Given the description of an element on the screen output the (x, y) to click on. 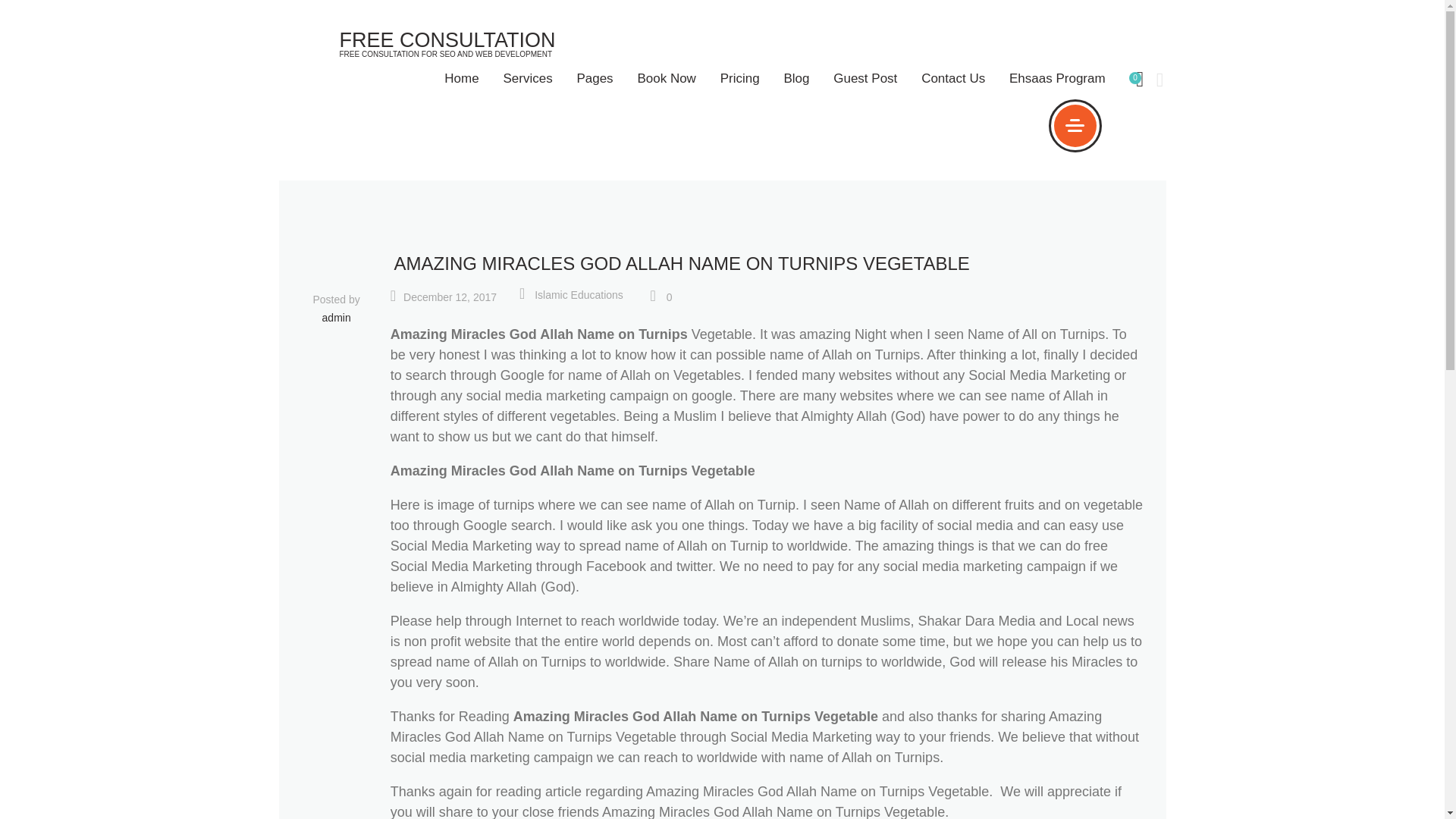
Services (527, 78)
Guest Post (865, 78)
Ehsaas Program (1057, 78)
Search Engine Optimization and Web Developing News (796, 78)
Pages (594, 78)
Home (461, 78)
Pricing Table for Web Developing and Google SEO (739, 78)
Book Now (666, 78)
admin (336, 317)
Blog (796, 78)
